Given the description of an element on the screen output the (x, y) to click on. 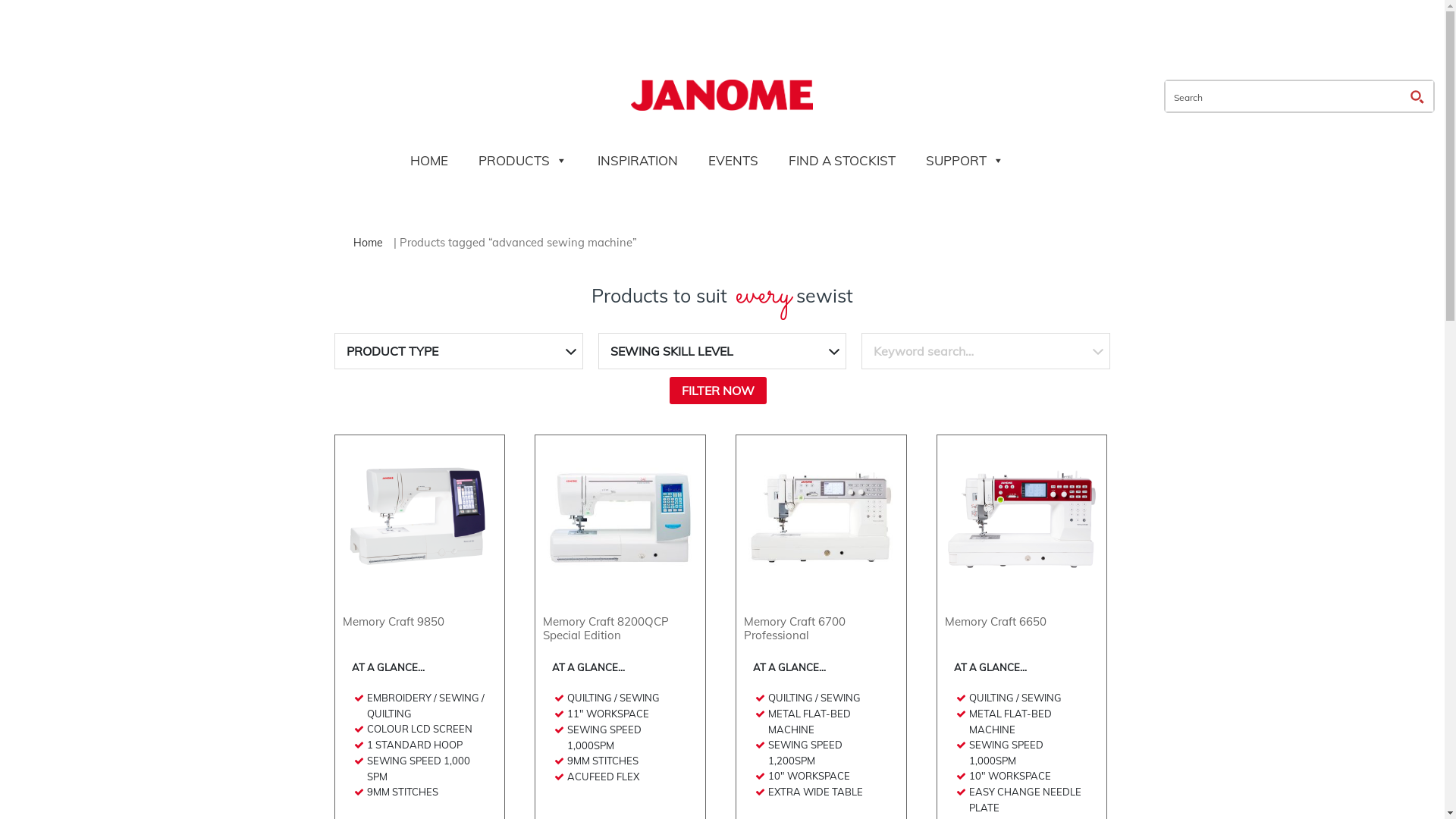
Memory Craft 9850 Element type: text (419, 546)
PRODUCTS Element type: text (522, 160)
Memory Craft 8200QCP Special Edition Element type: text (619, 546)
INSPIRATION Element type: text (637, 160)
FILTER NOW Element type: text (716, 390)
SUPPORT Element type: text (964, 160)
Memory Craft 6650 Element type: text (1021, 546)
FIND A STOCKIST Element type: text (841, 160)
Memory Craft 6700 Professional Element type: text (820, 546)
HOME Element type: text (429, 160)
EVENTS Element type: text (733, 160)
Home Element type: text (367, 242)
